Given the description of an element on the screen output the (x, y) to click on. 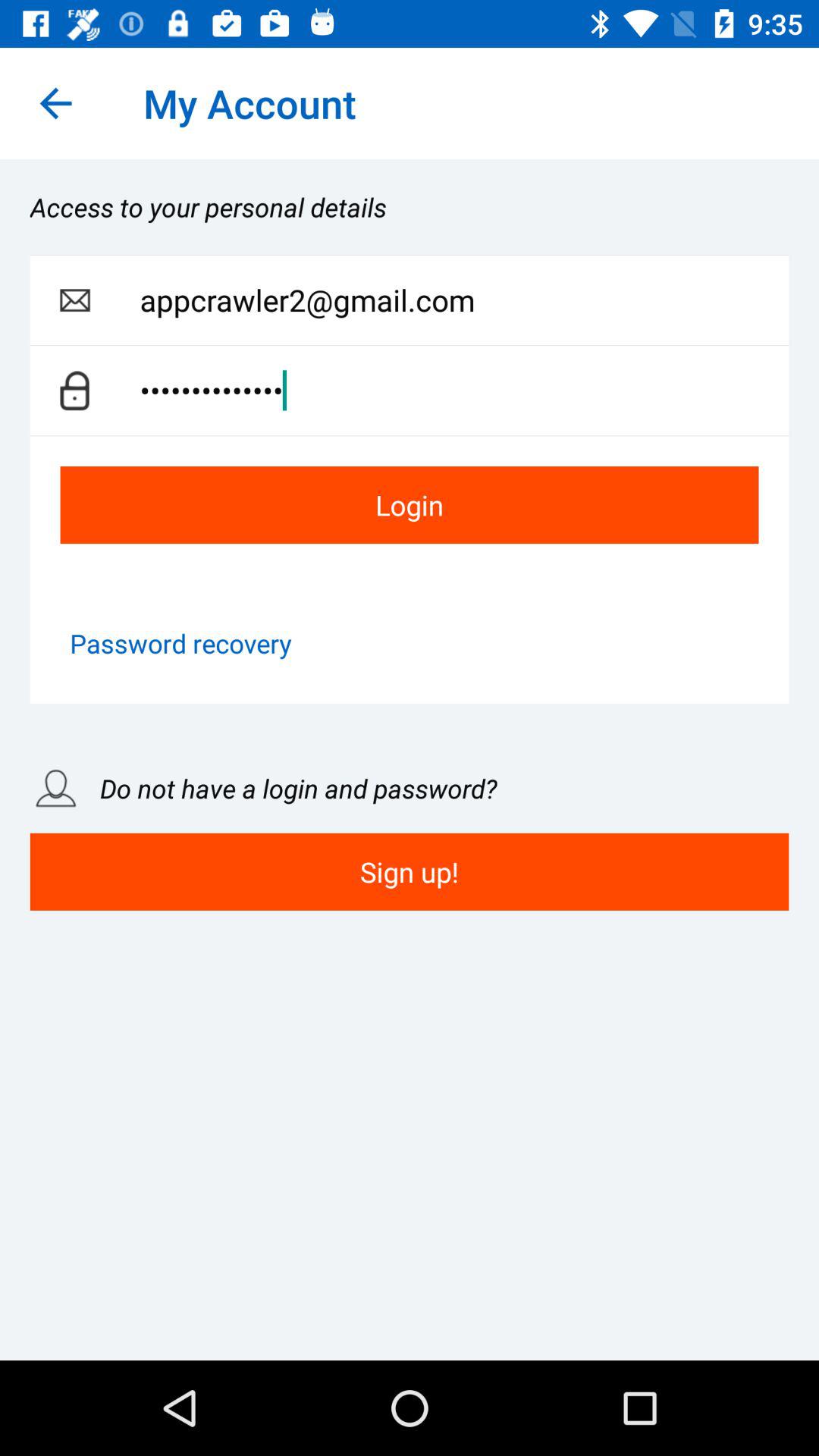
jump to the appcrawler3116 (463, 390)
